Given the description of an element on the screen output the (x, y) to click on. 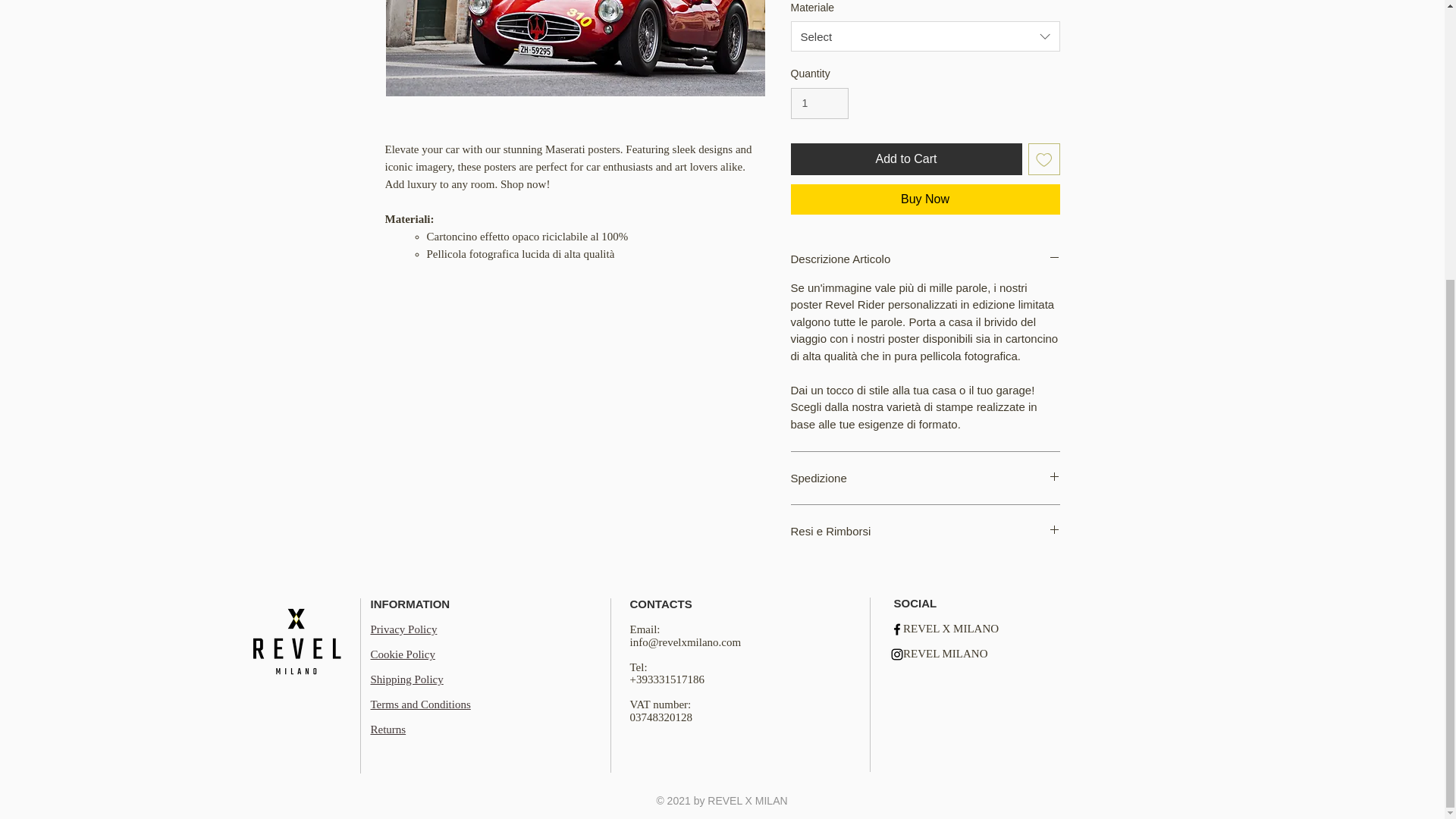
Spedizione (924, 478)
Returns (387, 729)
Descrizione Articolo (924, 258)
Shipping Policy (405, 679)
Terms and Conditions (419, 704)
Add to Cart (906, 159)
Cookie Policy (401, 654)
Select (924, 36)
Buy Now (924, 199)
Privacy Policy (402, 629)
1 (818, 102)
REVEL X MILANO (950, 628)
Resi e Rimborsi (924, 530)
